Given the description of an element on the screen output the (x, y) to click on. 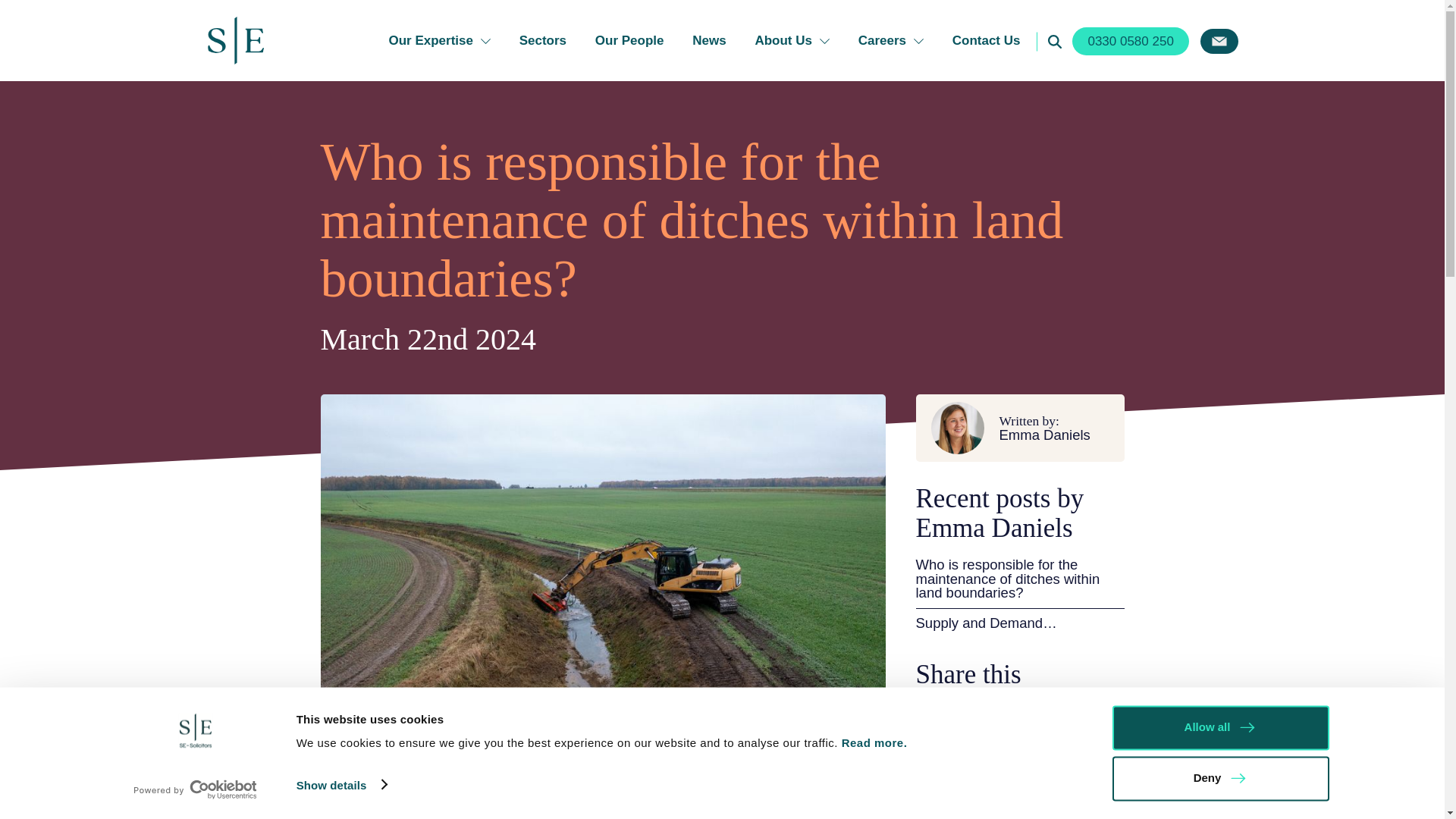
Allow all (1219, 727)
Show details (341, 784)
Read more.  (876, 742)
Our Expertise (439, 40)
Deny (1219, 777)
